Given the description of an element on the screen output the (x, y) to click on. 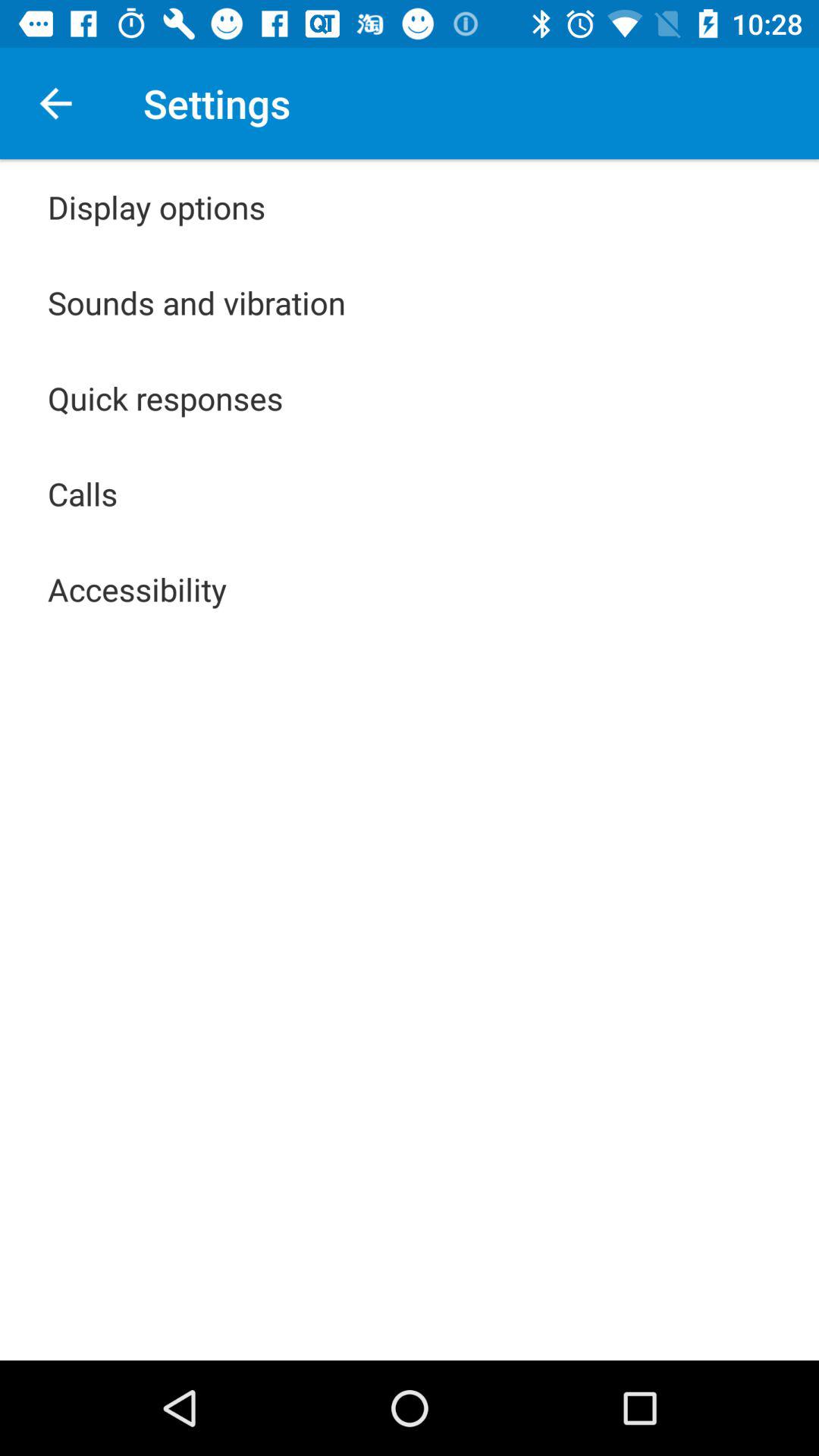
turn off the accessibility (136, 588)
